Given the description of an element on the screen output the (x, y) to click on. 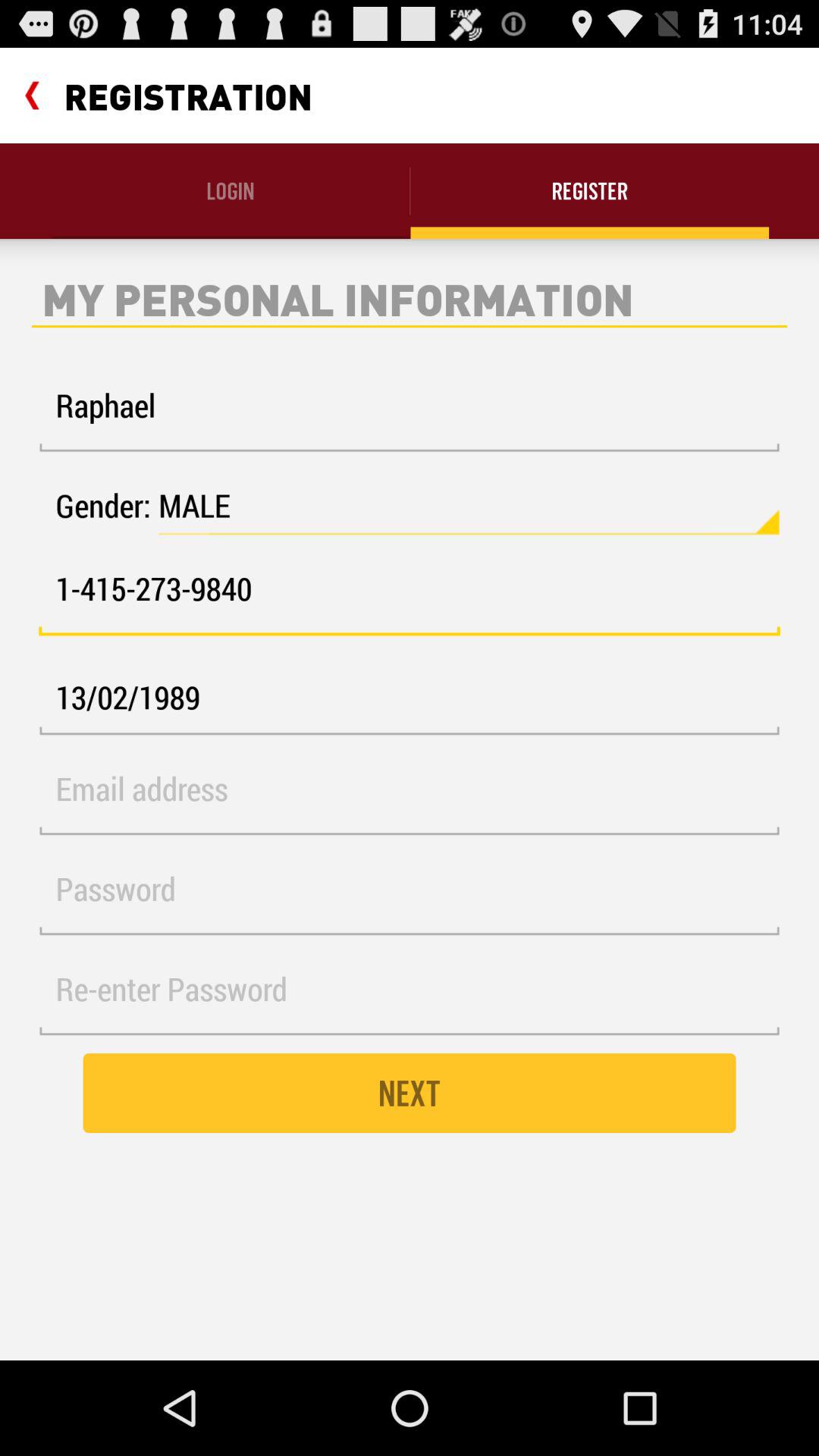
choose the icon above the 13/02/1989 item (409, 597)
